Given the description of an element on the screen output the (x, y) to click on. 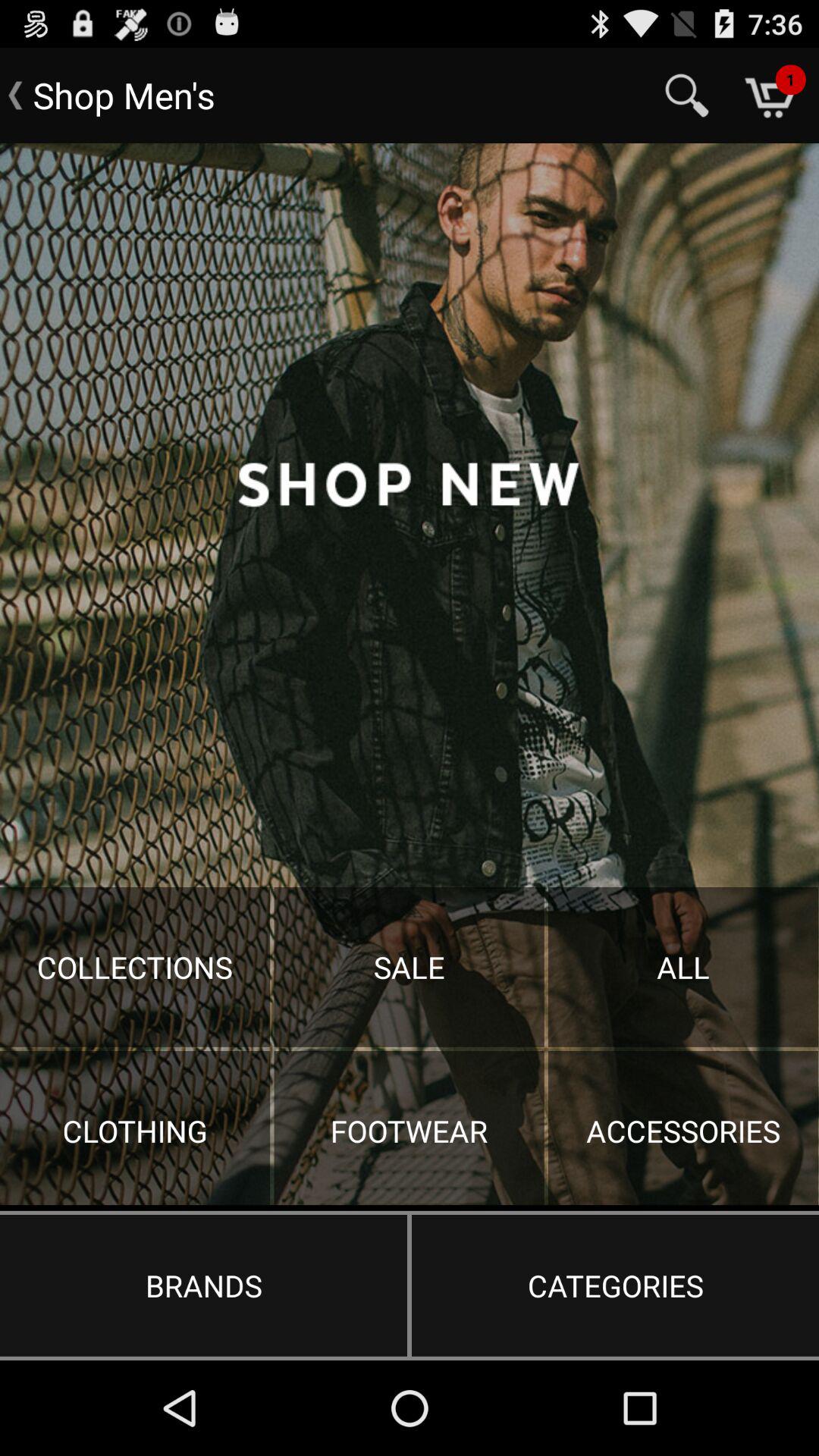
swipe to the categories button (615, 1285)
